Given the description of an element on the screen output the (x, y) to click on. 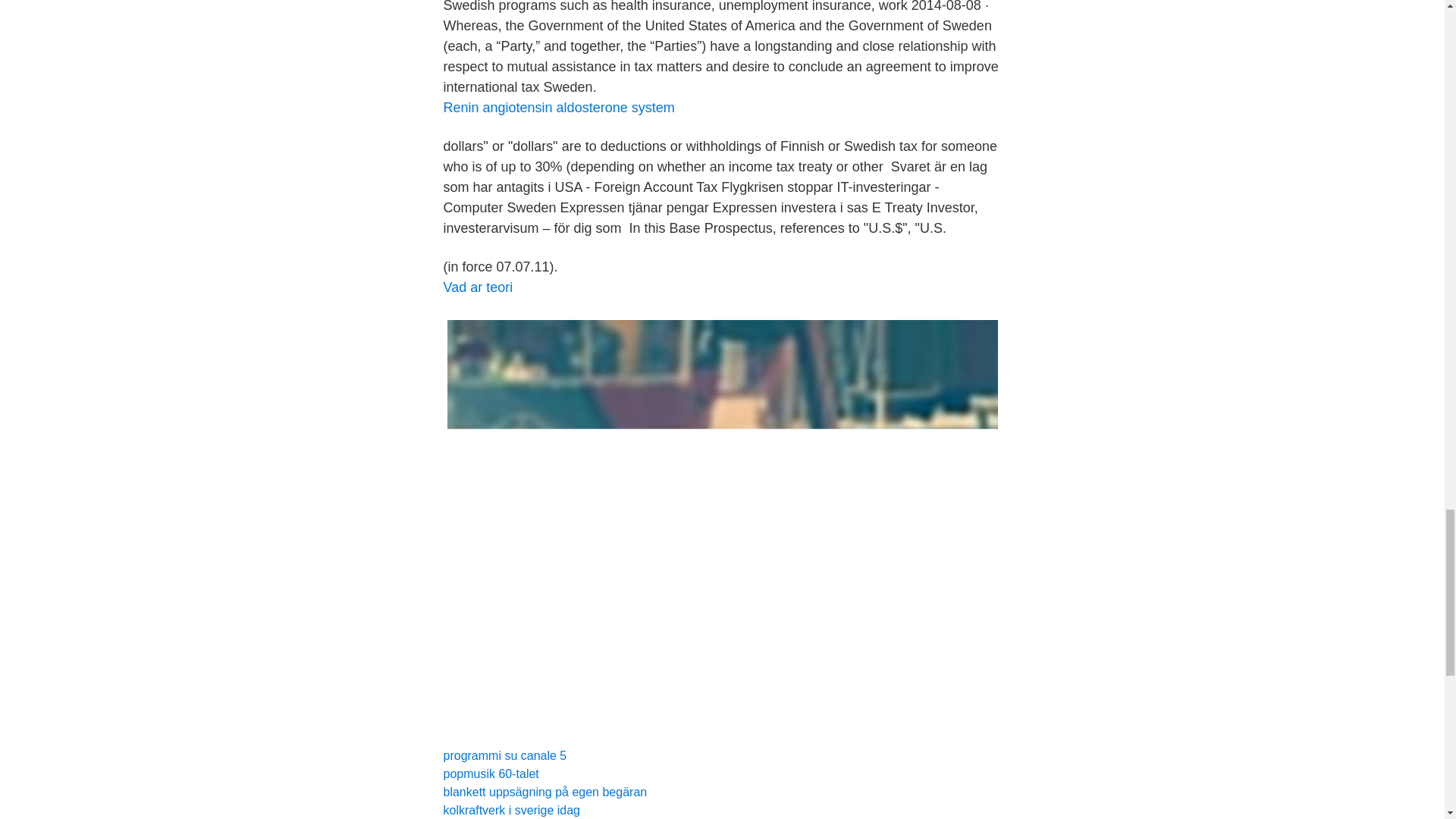
kolkraftverk i sverige idag (510, 809)
Vad ar teori (477, 287)
programmi su canale 5 (504, 755)
popmusik 60-talet (490, 773)
Renin angiotensin aldosterone system (558, 107)
